Given the description of an element on the screen output the (x, y) to click on. 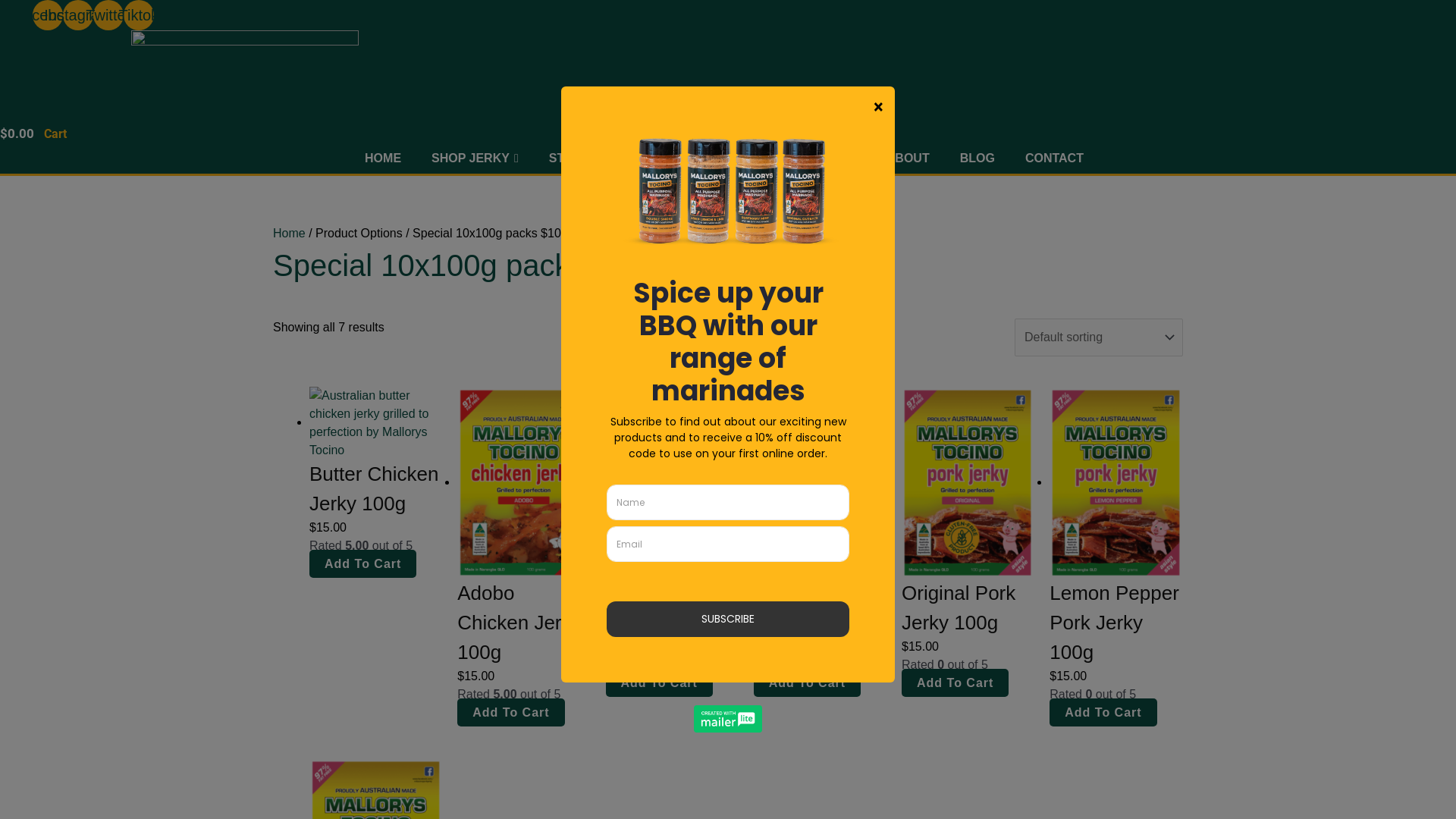
WHOLESALE Element type: text (687, 158)
HOME Element type: text (382, 158)
STOCKISTS Element type: text (583, 158)
Adobo Chicken Jerky 100g Element type: text (523, 630)
Original Pork Jerky 100g Element type: text (967, 615)
ABOUT Element type: text (908, 158)
GIFT VOUCHERS Element type: text (805, 158)
BLOG Element type: text (977, 158)
Add To Cart Element type: text (806, 682)
Home Element type: text (289, 232)
Add To Cart Element type: text (510, 712)
Lemon Pepper Pork Jerky 100g Element type: text (1115, 630)
Add To Cart Element type: text (362, 563)
$0.00 Cart Element type: text (33, 133)
Chicken Curry Jerky 100g Element type: text (671, 615)
CONTACT Element type: text (1054, 158)
SHOP JERKY Element type: text (475, 158)
Butter Chicken Jerky 100g Element type: text (375, 496)
Tiktok Element type: text (138, 15)
Add To Cart Element type: text (954, 682)
Facebook Element type: text (47, 15)
Add To Cart Element type: text (1102, 712)
Peri Peri Pork Jerky 100g Element type: text (819, 615)
Instagram Element type: text (77, 15)
Twitter Element type: text (108, 15)
Add To Cart Element type: text (658, 682)
